Given the description of an element on the screen output the (x, y) to click on. 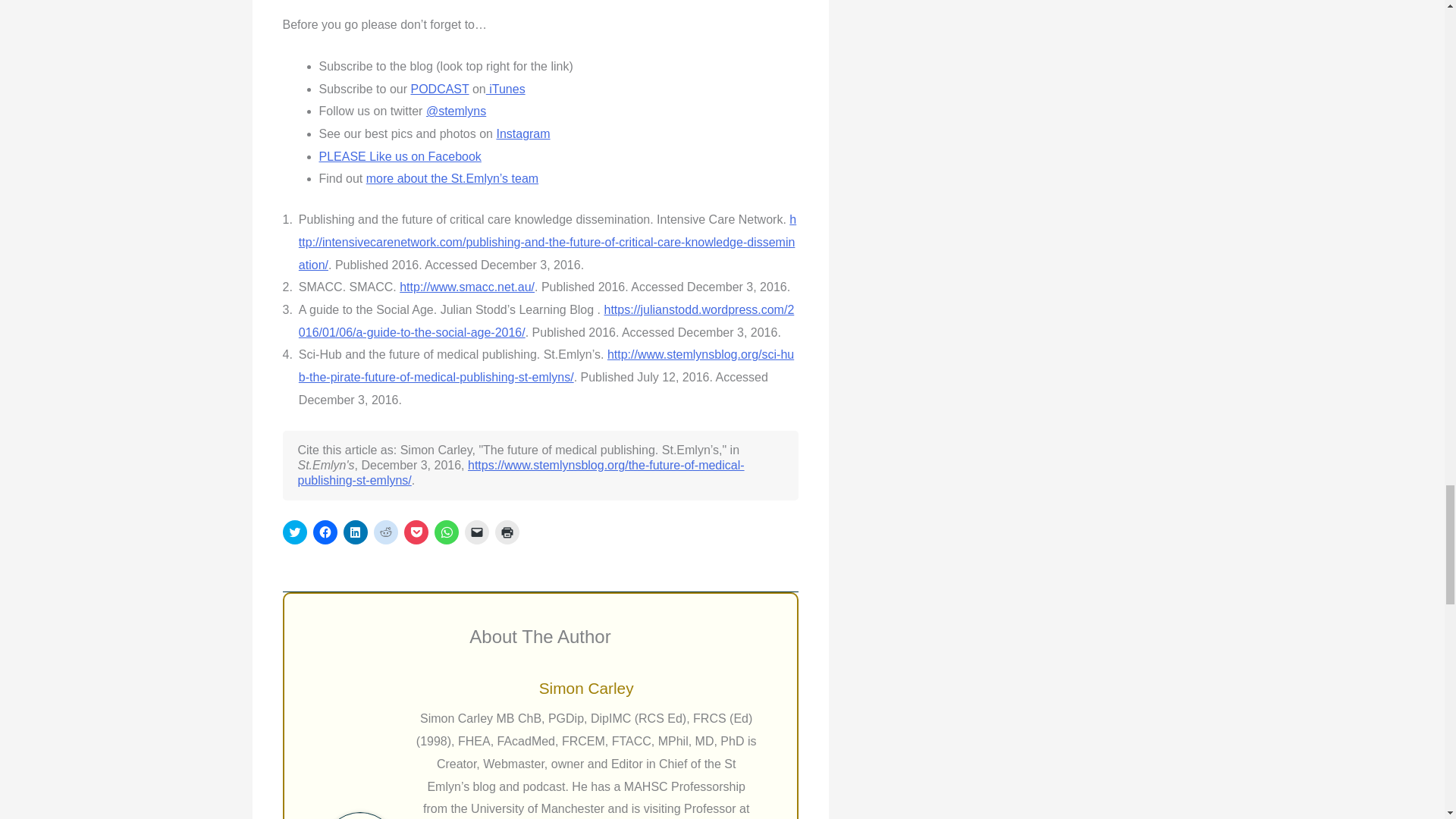
Click to print (506, 532)
Click to share on Facebook (324, 532)
Click to share on LinkedIn (354, 532)
Click to email a link to a friend (475, 532)
Click to share on Twitter (293, 532)
Click to share on WhatsApp (445, 532)
Click to share on Reddit (384, 532)
Click to share on Pocket (415, 532)
